Given the description of an element on the screen output the (x, y) to click on. 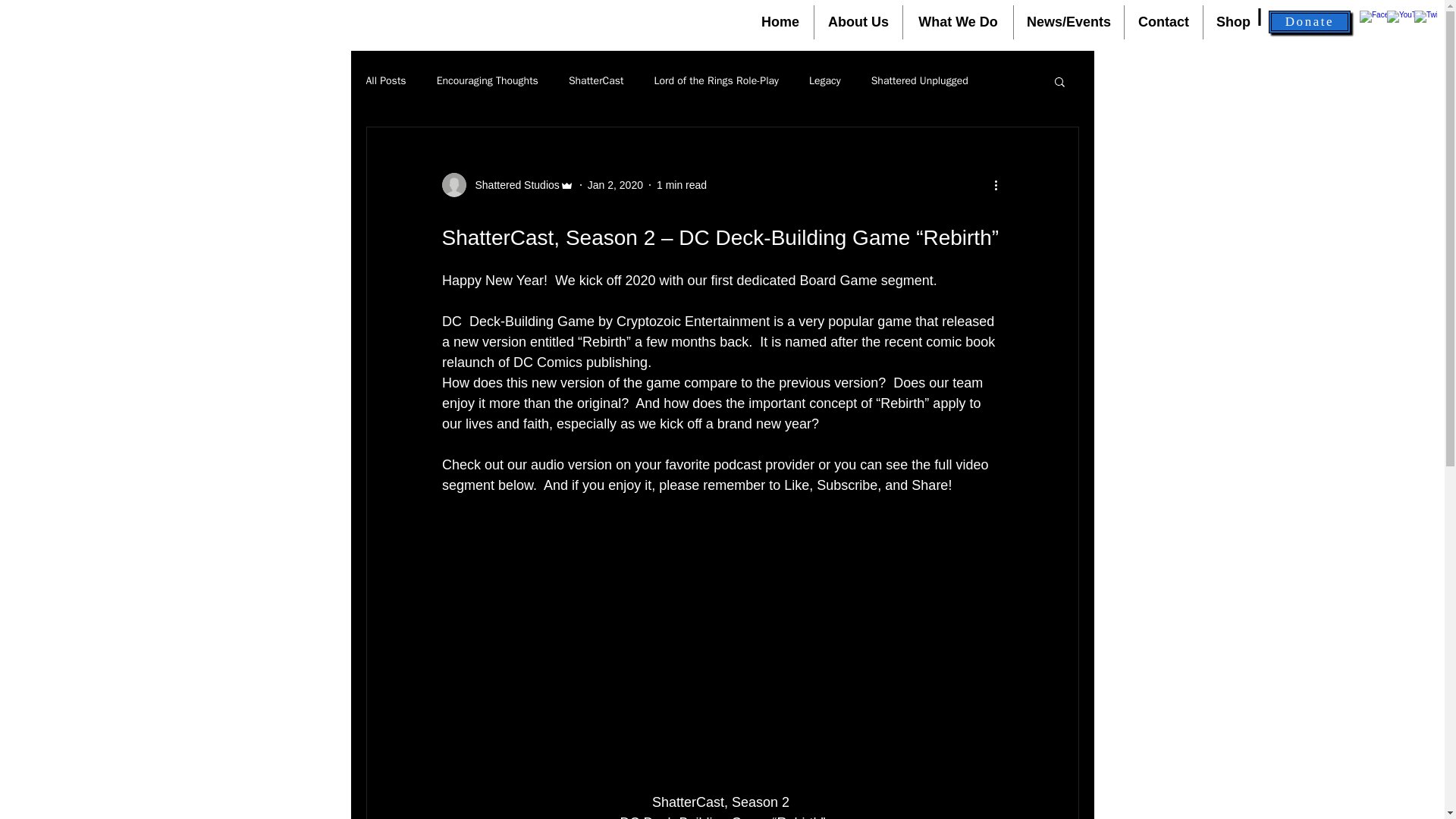
Legacy (825, 80)
Jan 2, 2020 (615, 184)
Lord of the Rings Role-Play (715, 80)
ShatterCast (596, 80)
Home (779, 21)
1 min read (681, 184)
All Posts (385, 80)
Contact (1163, 21)
Shop (1232, 21)
Encouraging Thoughts (487, 80)
Shattered Unplugged (919, 80)
Shattered Studios (512, 185)
Shattered Studios (507, 184)
Donate (1309, 21)
